Given the description of an element on the screen output the (x, y) to click on. 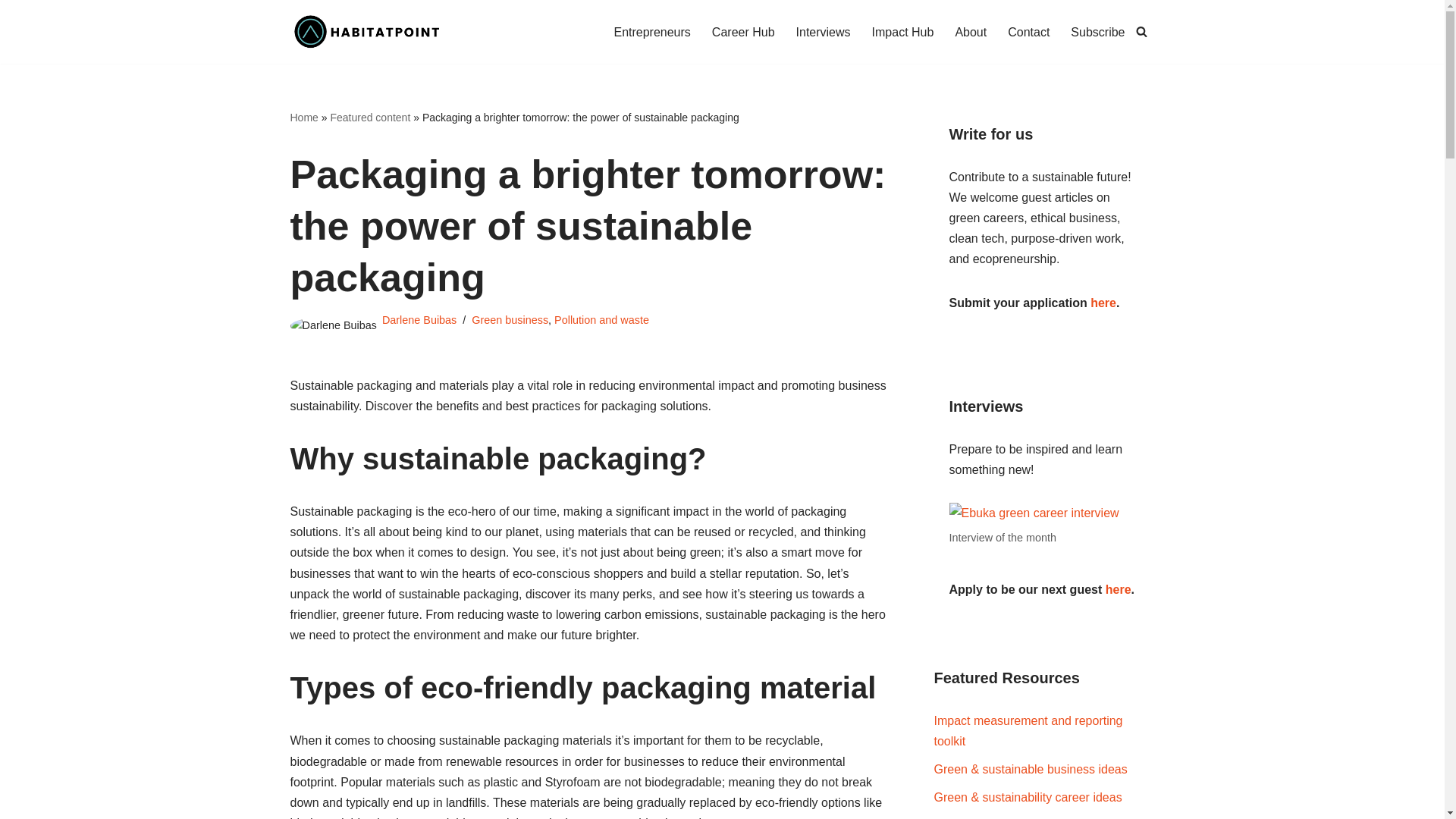
Featured content (370, 117)
Skip to content (11, 31)
Career Hub (742, 31)
Home (303, 117)
Darlene Buibas (419, 319)
Posts by Darlene Buibas (419, 319)
About (971, 31)
Pollution and waste (601, 319)
Contact (1028, 31)
Interviews (823, 31)
